Given the description of an element on the screen output the (x, y) to click on. 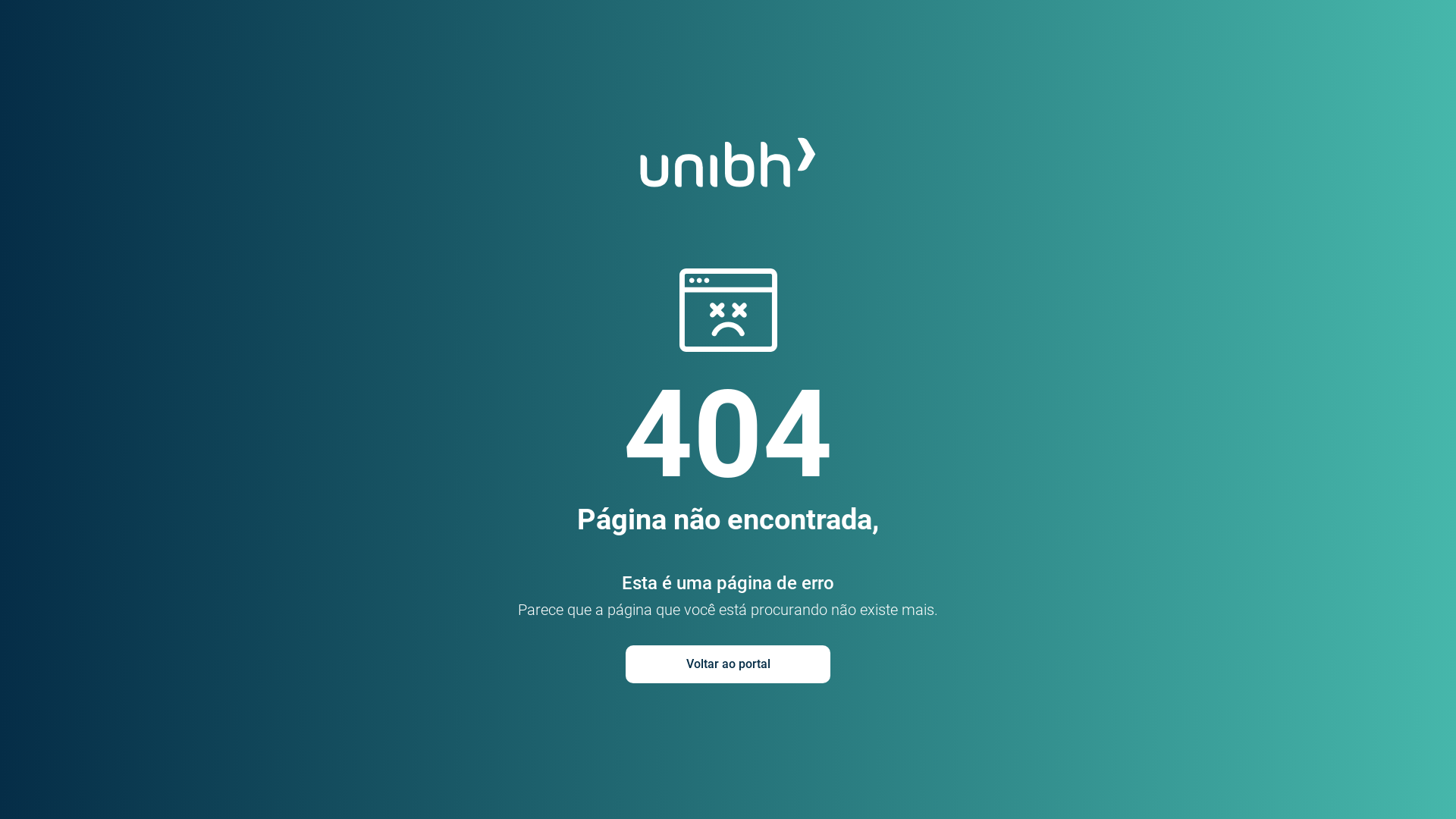
Voltar ao portal Element type: text (727, 664)
